Given the description of an element on the screen output the (x, y) to click on. 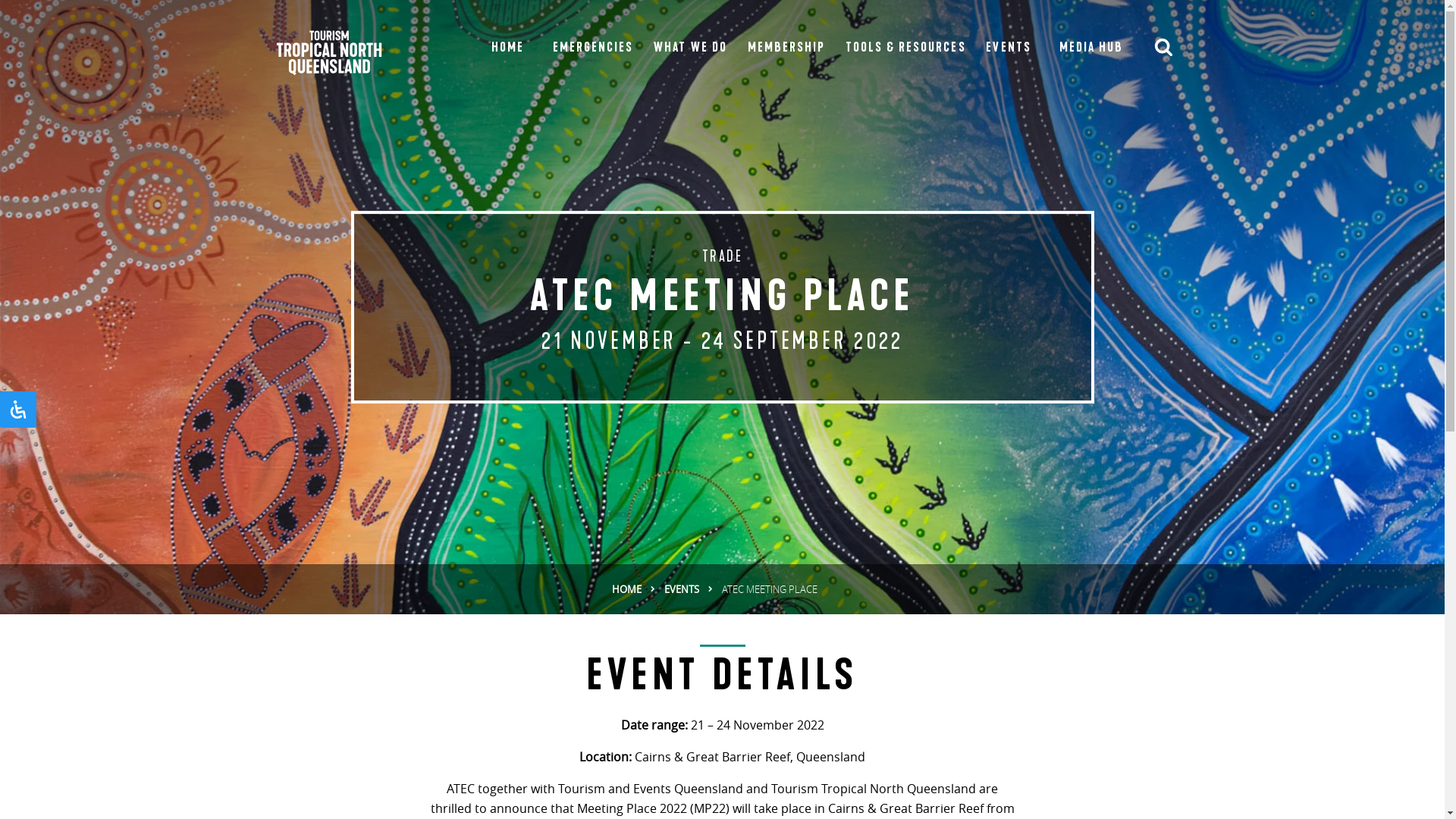
EVENTS Element type: text (681, 589)
WHAT WE DO Element type: text (689, 47)
MEMBERSHIP Element type: text (786, 47)
HOME Element type: text (507, 47)
EVENTS Element type: text (1007, 47)
TOOLS & RESOURCES Element type: text (905, 47)
Accessibility Element type: hover (18, 409)
EMERGENCIES Element type: text (592, 47)
MEDIA HUB Element type: text (1091, 47)
HOME Element type: text (626, 589)
